Given the description of an element on the screen output the (x, y) to click on. 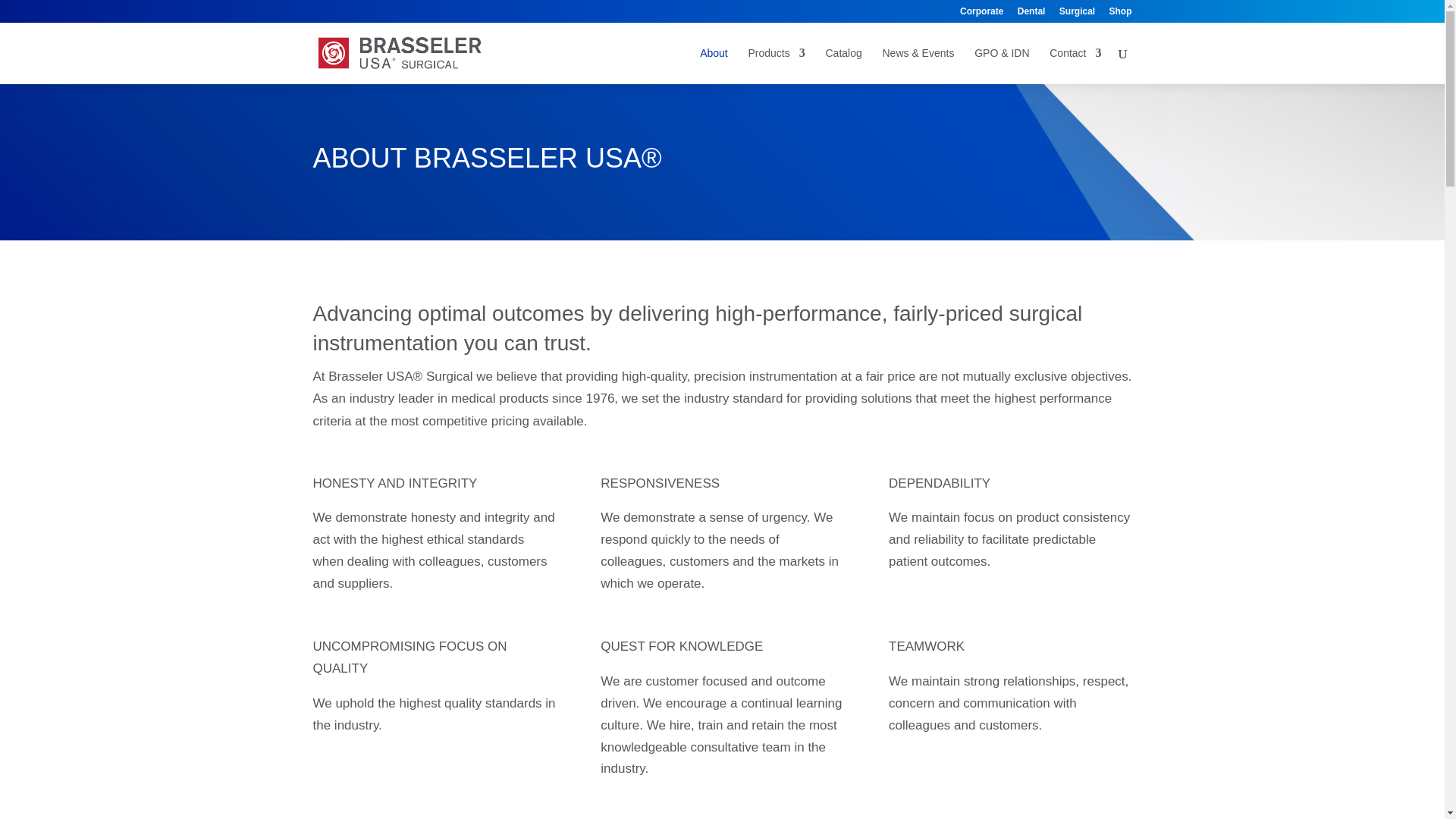
Dental (1031, 14)
Corporate (981, 14)
Catalog (843, 65)
Products (776, 65)
Surgical (1076, 14)
Contact (1074, 65)
Shop (1119, 14)
